Given the description of an element on the screen output the (x, y) to click on. 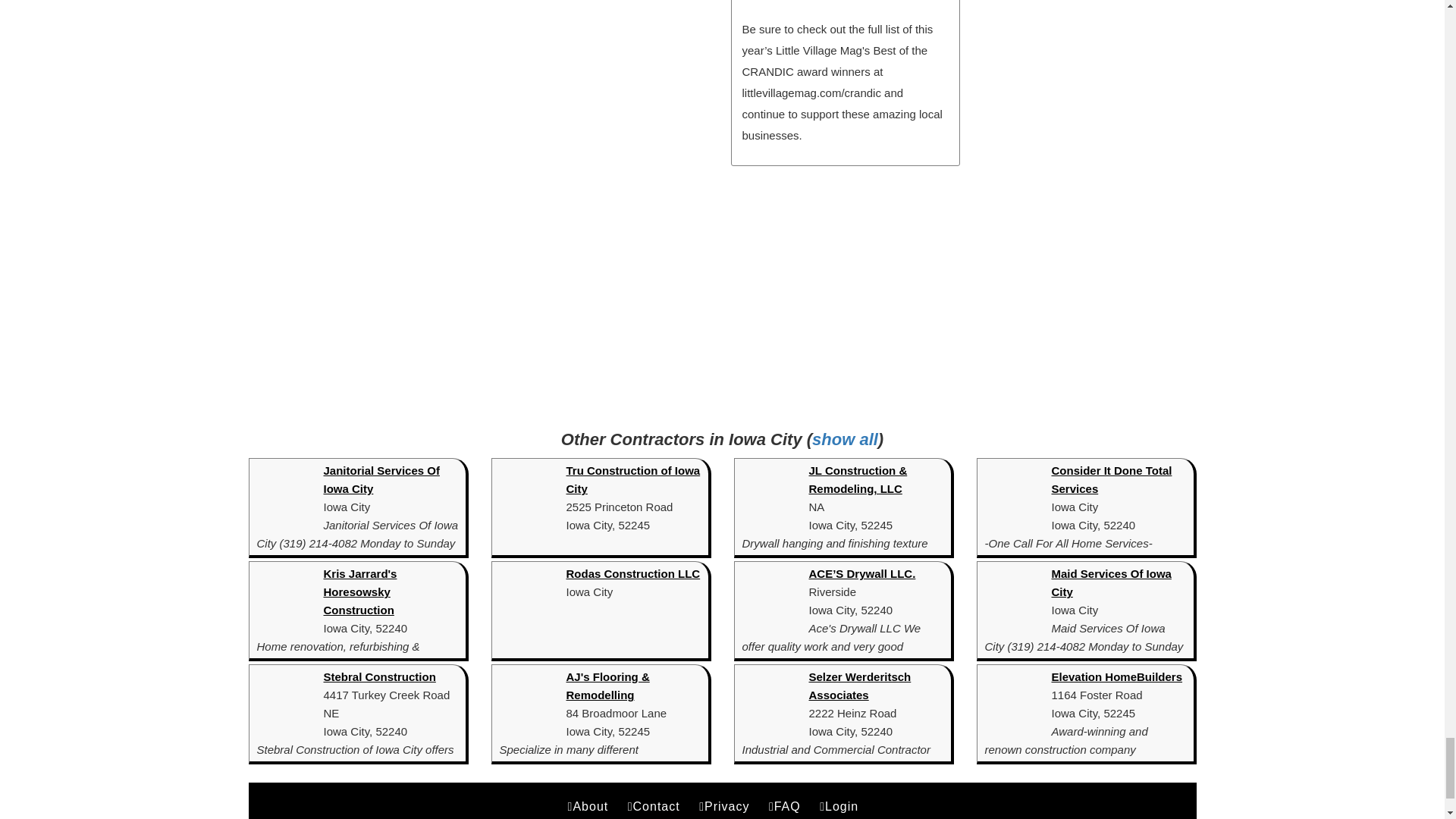
Janitorial Services Of Iowa City (381, 479)
Kris Jarrard's Horesowsky Construction (359, 591)
Rodas Construction LLC (633, 573)
Tru Construction of Iowa City (633, 479)
Consider It Done Total Services (1111, 479)
show all (844, 438)
